Given the description of an element on the screen output the (x, y) to click on. 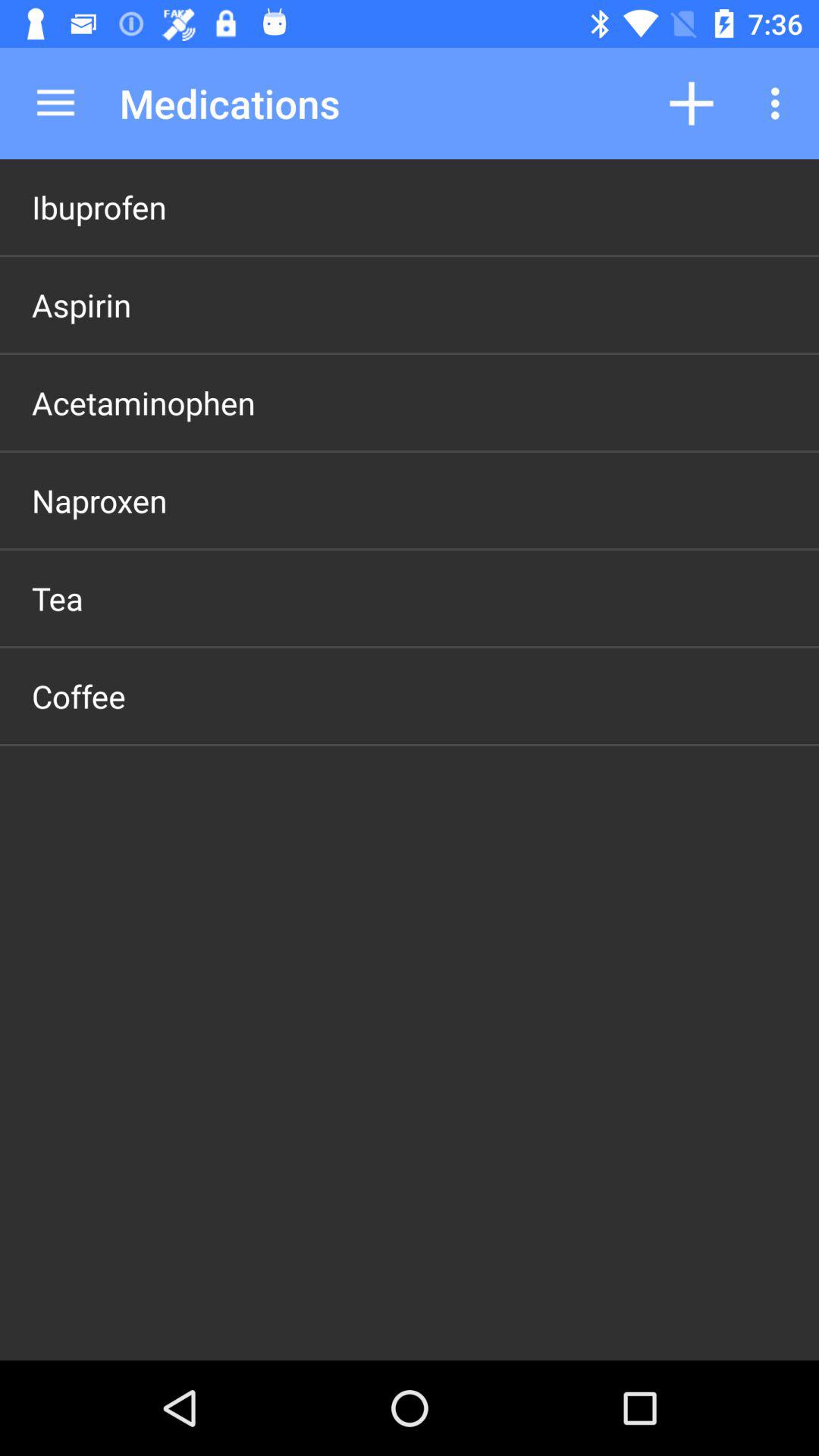
press app below ibuprofen (81, 304)
